Given the description of an element on the screen output the (x, y) to click on. 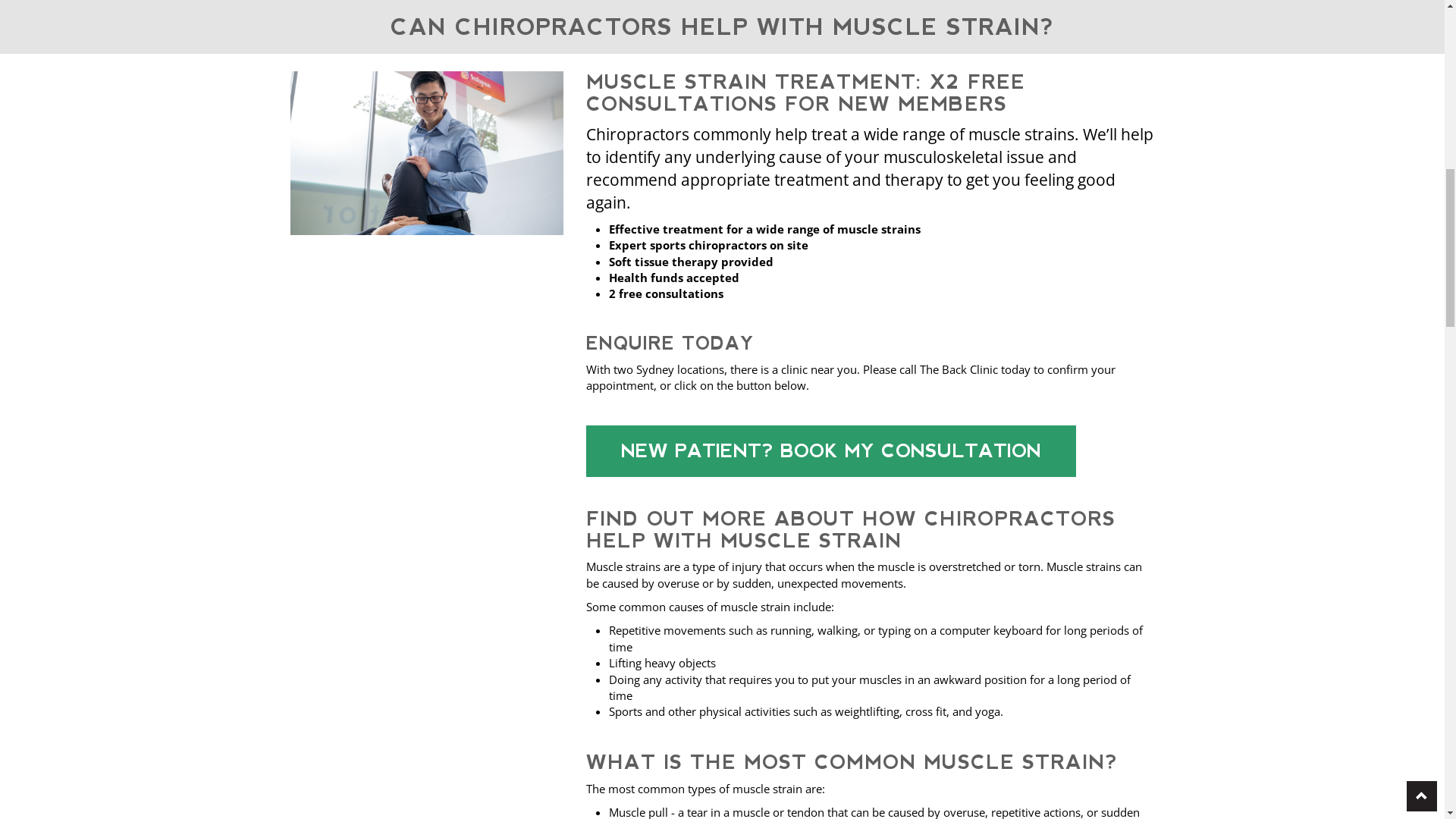
NEW MEMBERS Element type: text (722, 771)
CHIROPRACTIC Element type: text (896, 150)
HOME Element type: text (639, 150)
MEET OUR TEAM Element type: text (794, 150)
EMPLOYMENT Element type: text (1149, 150)
READ MORE Element type: text (481, 771)
02 9708 6011 Element type: text (1188, 57)
CONTACT US Element type: text (1240, 150)
NEW MEMBERS Element type: text (1379, 150)
02 9592 1282 Element type: text (1365, 57)
SERVICES Element type: text (982, 150)
QUICK CALLBACK Element type: text (236, 759)
X2 FREE CONSULTATIONS
FOR NEW MEMBERS* Element type: text (1264, 92)
VIEW OUR SAFETY PLAN Element type: text (700, 27)
LOCATIONS Element type: text (1060, 150)
BOOKING Element type: text (705, 150)
